Given the description of an element on the screen output the (x, y) to click on. 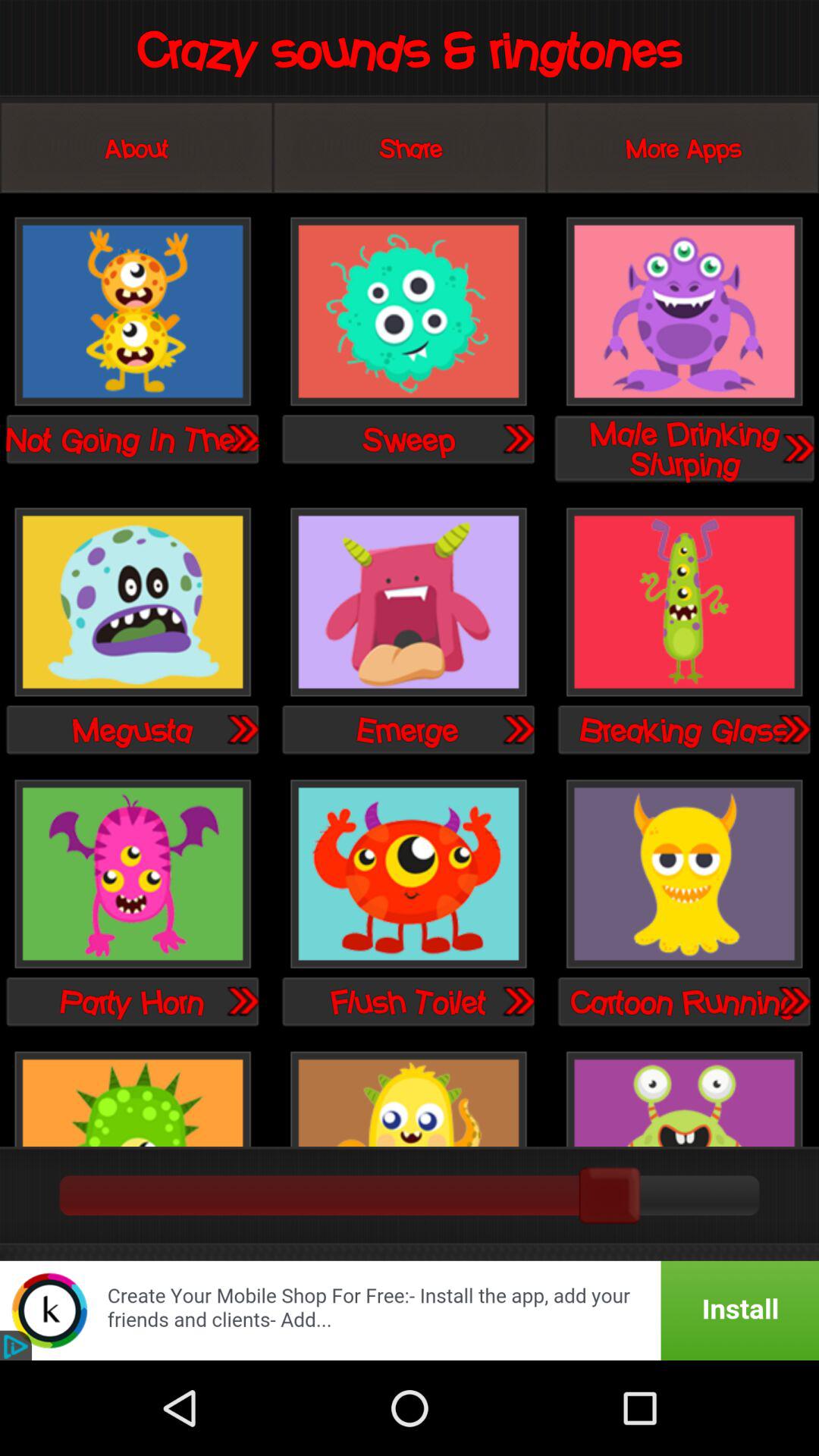
play sound (132, 312)
